Given the description of an element on the screen output the (x, y) to click on. 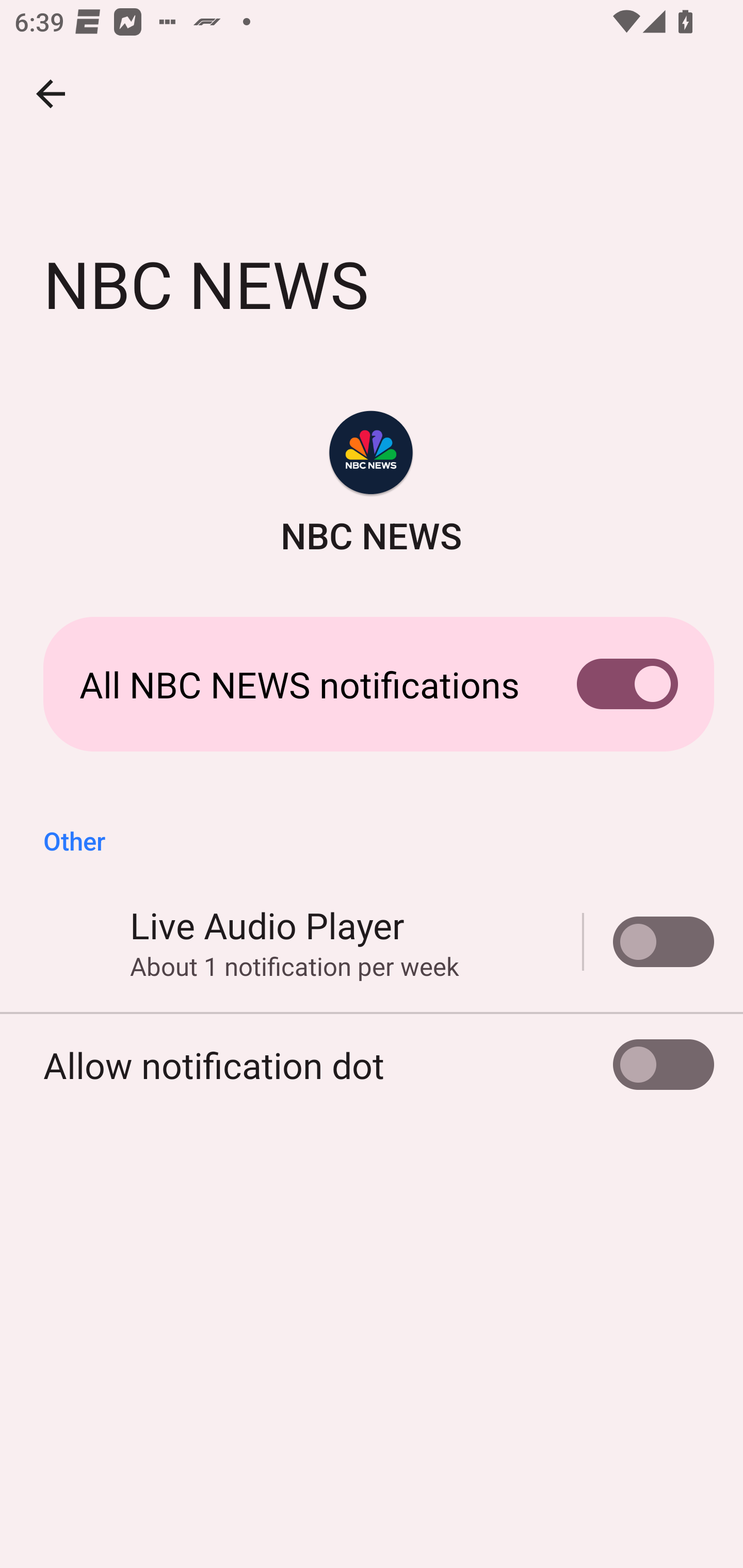
Navigate up (50, 93)
NBC NEWS (371, 484)
All NBC NEWS notifications (371, 684)
Live Audio Player (648, 941)
Allow notification dot (371, 1064)
